Given the description of an element on the screen output the (x, y) to click on. 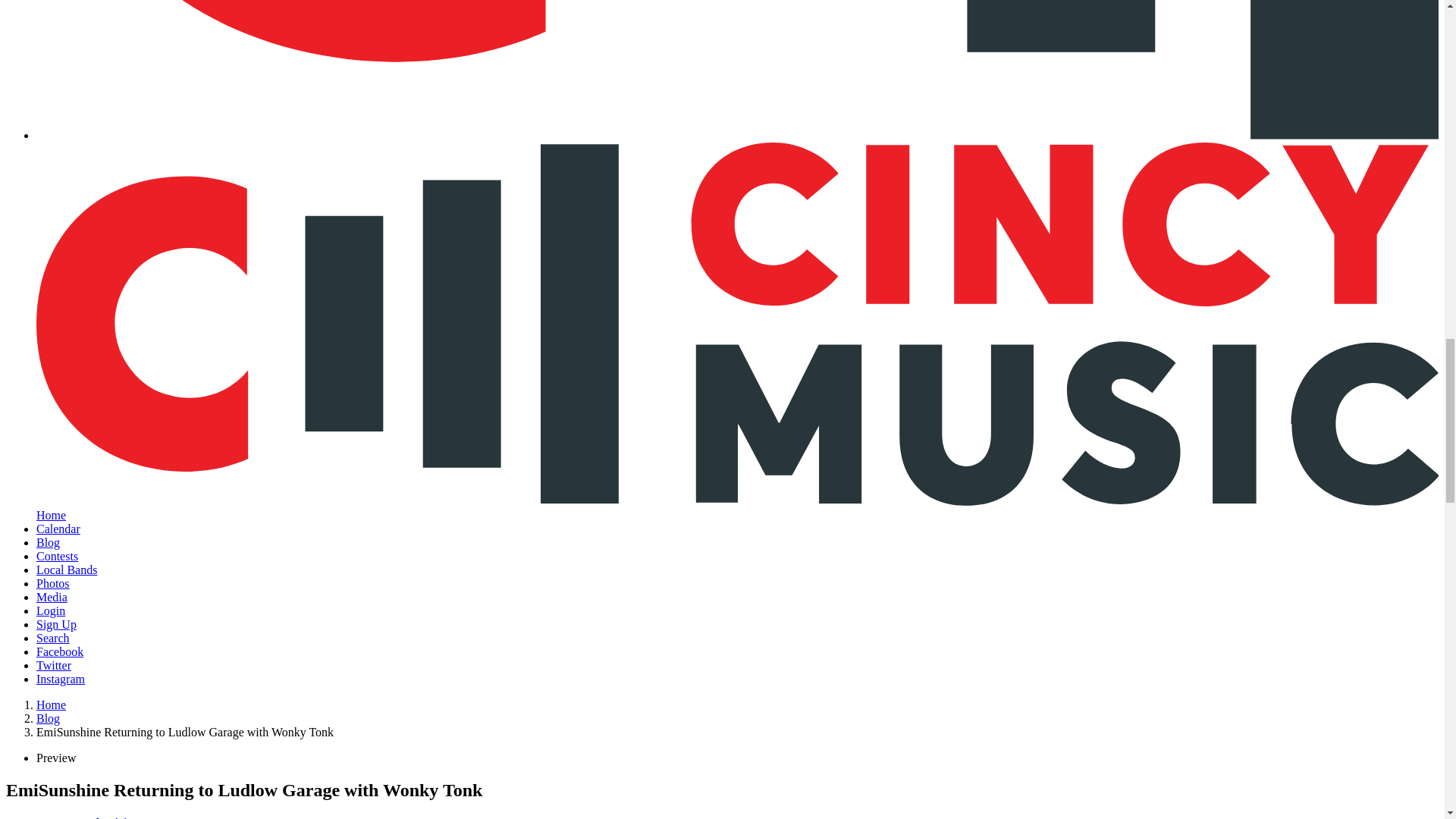
Contests (57, 555)
Search (52, 637)
Instagram (60, 678)
Blog (47, 542)
Photos (52, 583)
Blog (47, 717)
Facebook (59, 651)
Login (50, 610)
Home (50, 704)
Calendar (58, 528)
